Given the description of an element on the screen output the (x, y) to click on. 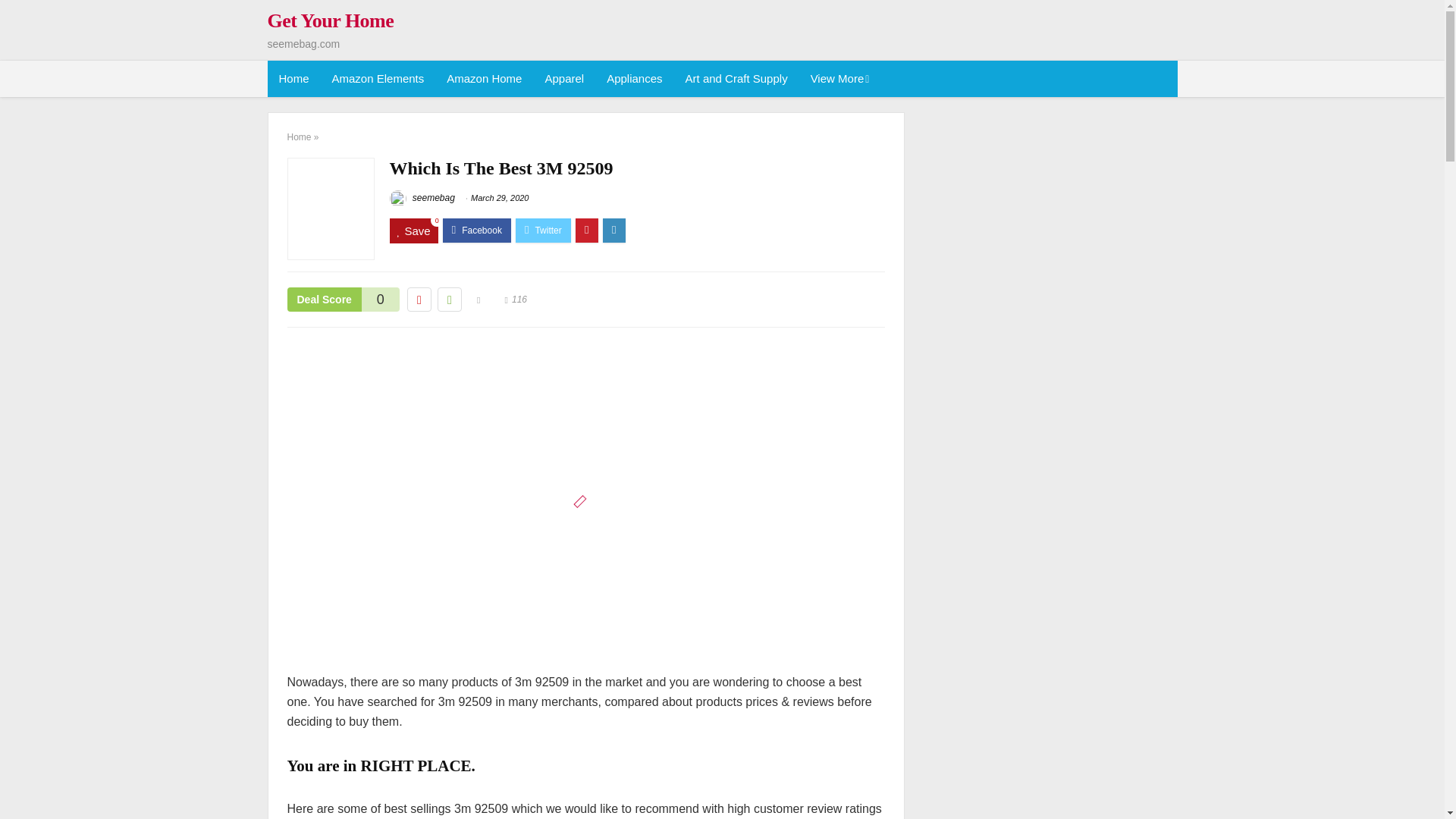
Vote down (418, 299)
Home (293, 78)
Apparel (563, 78)
Amazon Home (483, 78)
Amazon Elements (377, 78)
Art and Craft Supply (736, 78)
View More (838, 78)
Appliances (633, 78)
